Given the description of an element on the screen output the (x, y) to click on. 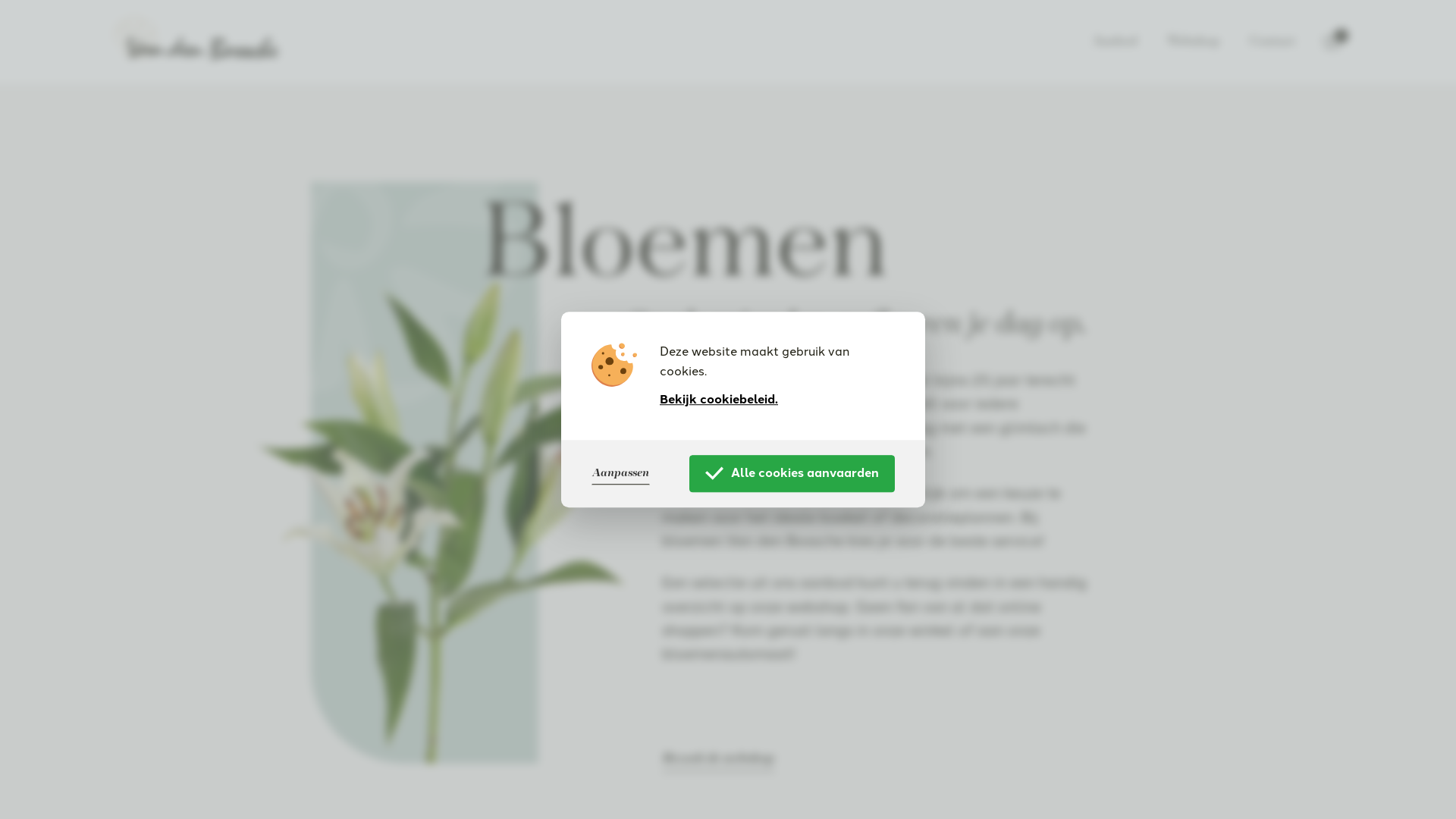
0 Element type: text (1332, 41)
Aanpassen Element type: text (620, 472)
Alle cookies aanvaarden Element type: text (791, 473)
Bezoek de webshop Element type: text (718, 758)
Contact Element type: text (1272, 41)
Webshop Element type: text (1192, 41)
Bekijk cookiebeleid. Element type: text (718, 399)
